Given the description of an element on the screen output the (x, y) to click on. 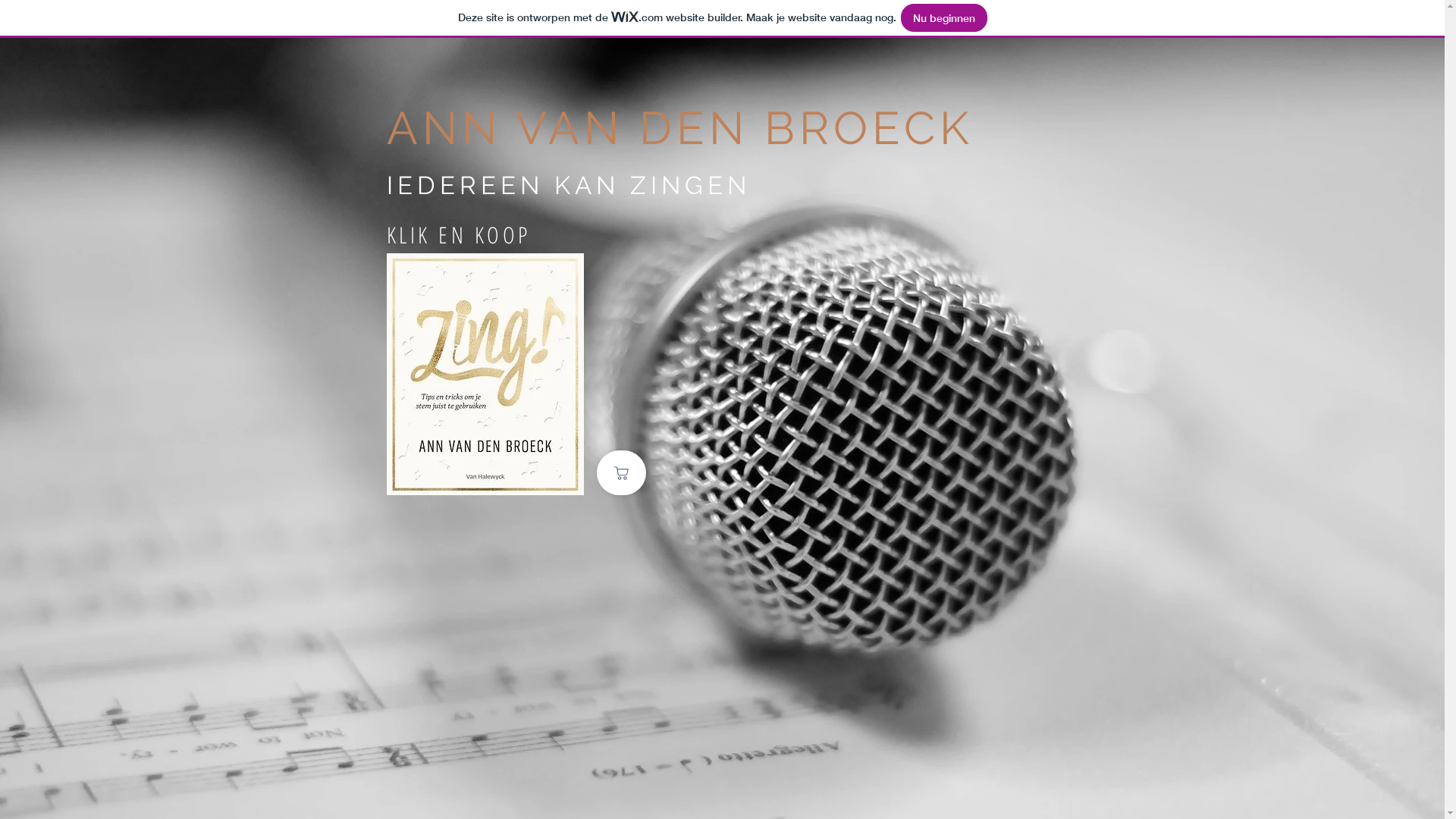
ANN VAN DEN BROECK IEDEREEN KAN ZINGEN Element type: text (679, 152)
